Given the description of an element on the screen output the (x, y) to click on. 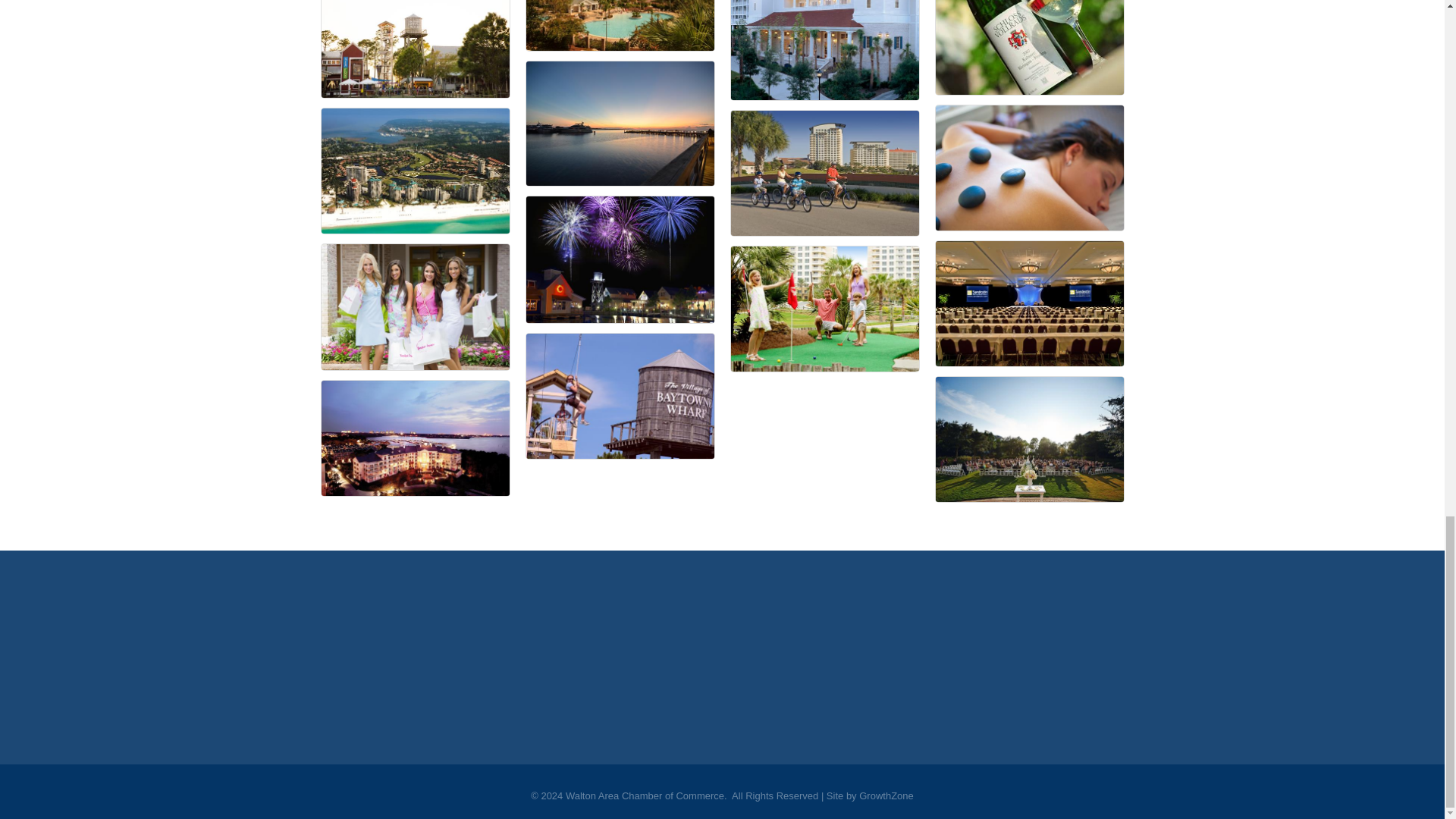
The Village of Baytowne Wharf (415, 48)
Sandestin Golf and Beach Resort (415, 170)
Sandestin Lasata (415, 438)
Sandestin Family Retail Shops (415, 306)
